Given the description of an element on the screen output the (x, y) to click on. 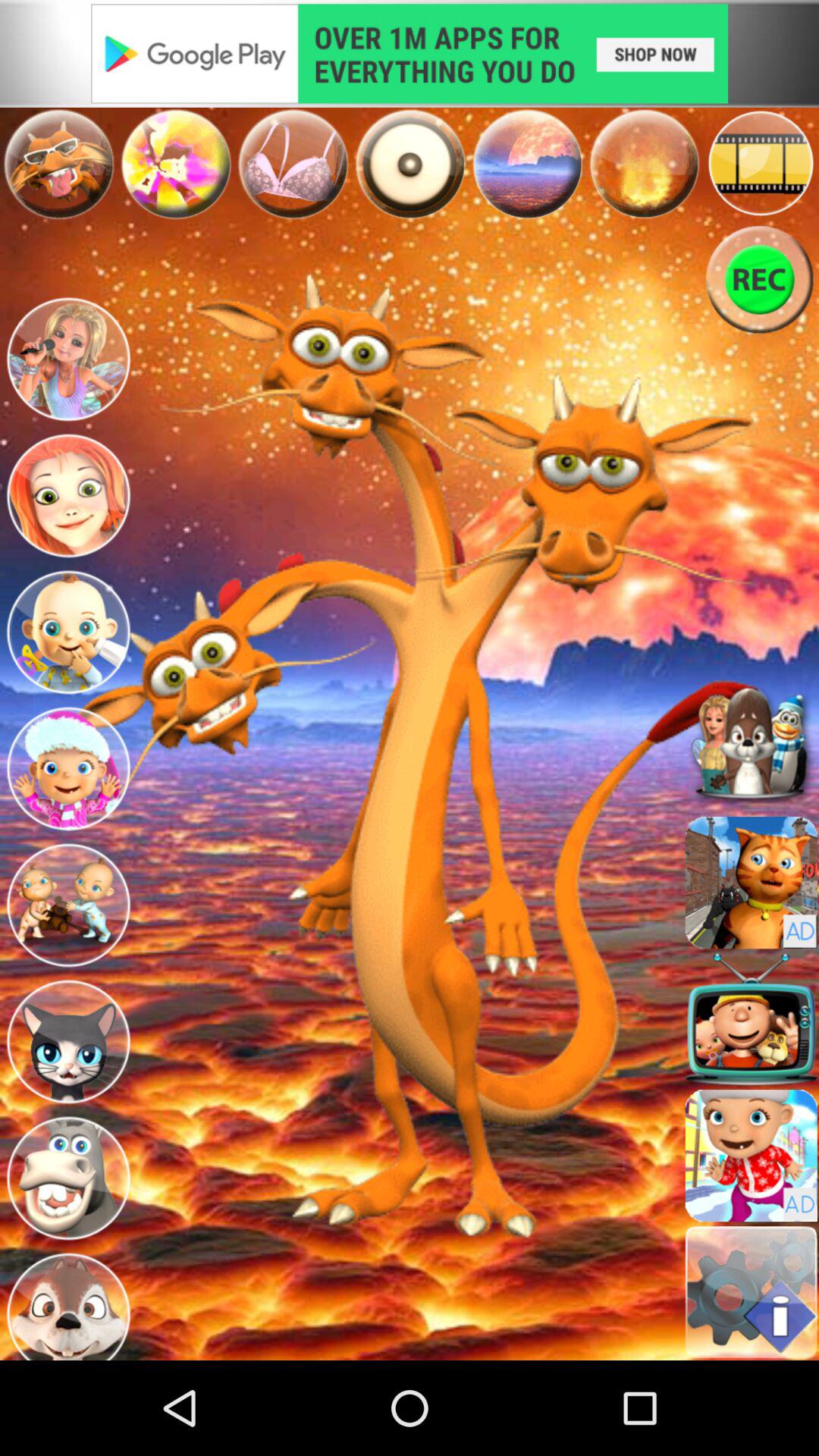
select voice type (175, 163)
